Given the description of an element on the screen output the (x, y) to click on. 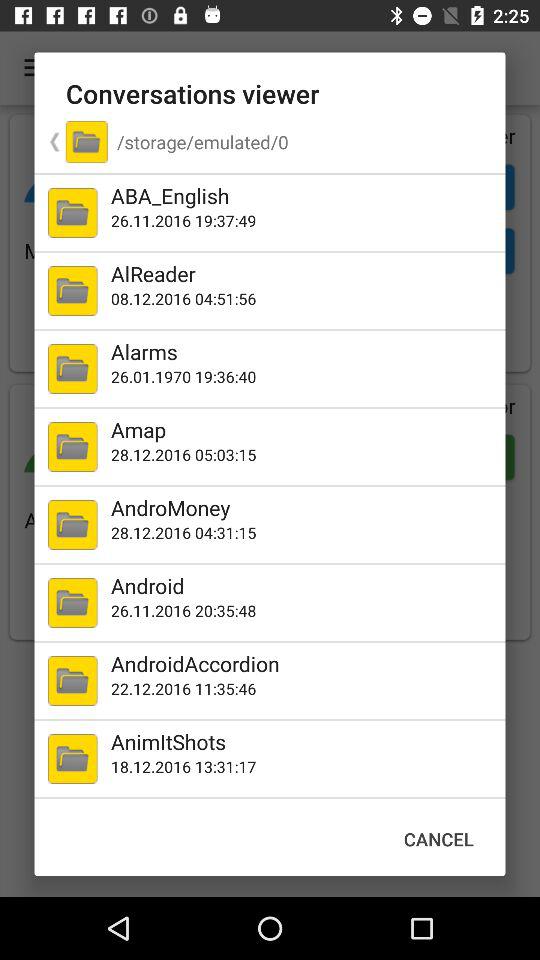
tap alreader (304, 273)
